Given the description of an element on the screen output the (x, y) to click on. 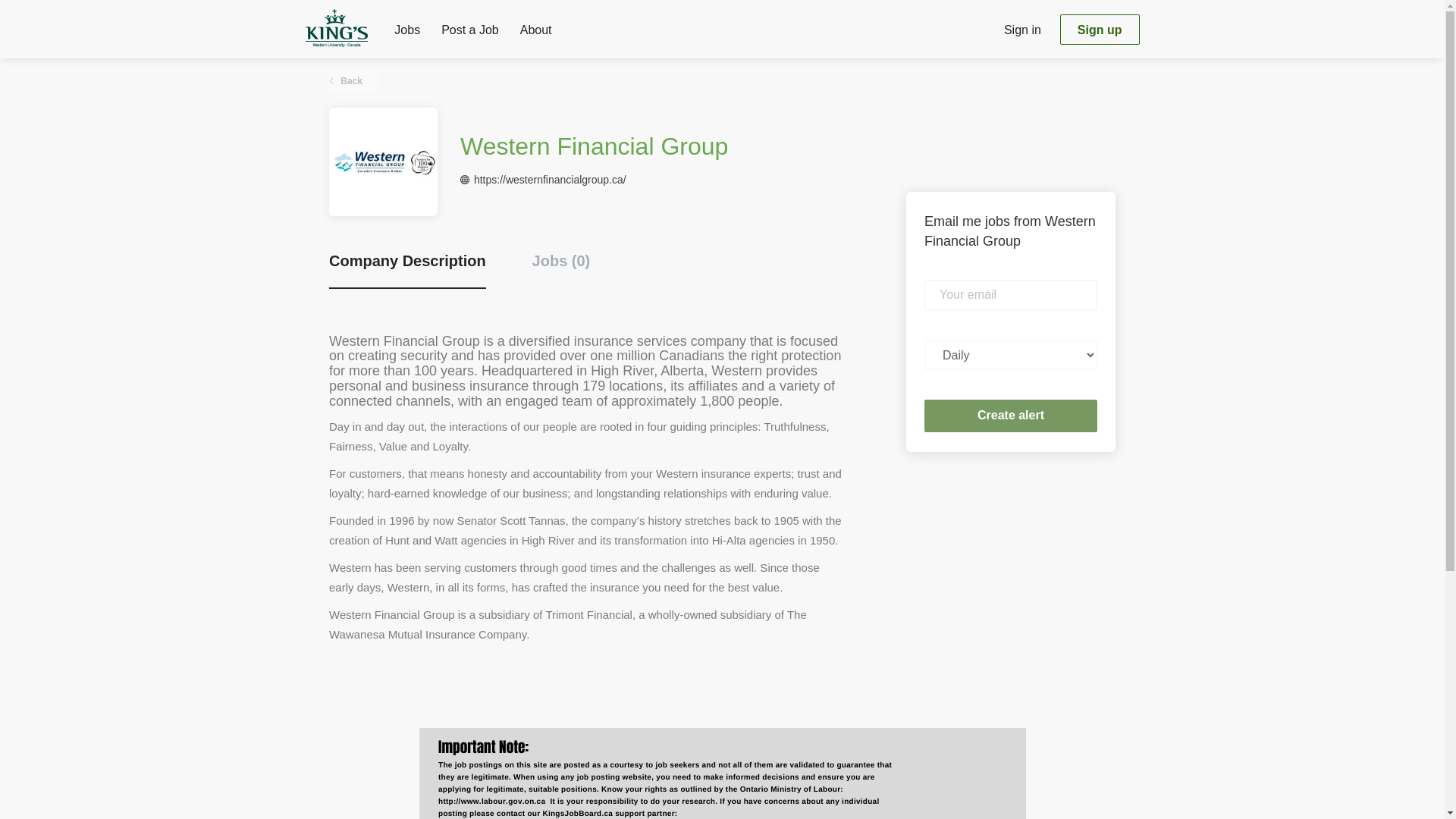
Back (353, 80)
Company Description (407, 269)
Sign in (1022, 28)
Create alert (1010, 415)
Create alert (1010, 415)
Sign up (1099, 29)
Jobs (407, 32)
Post a Job (470, 32)
About (535, 32)
